Given the description of an element on the screen output the (x, y) to click on. 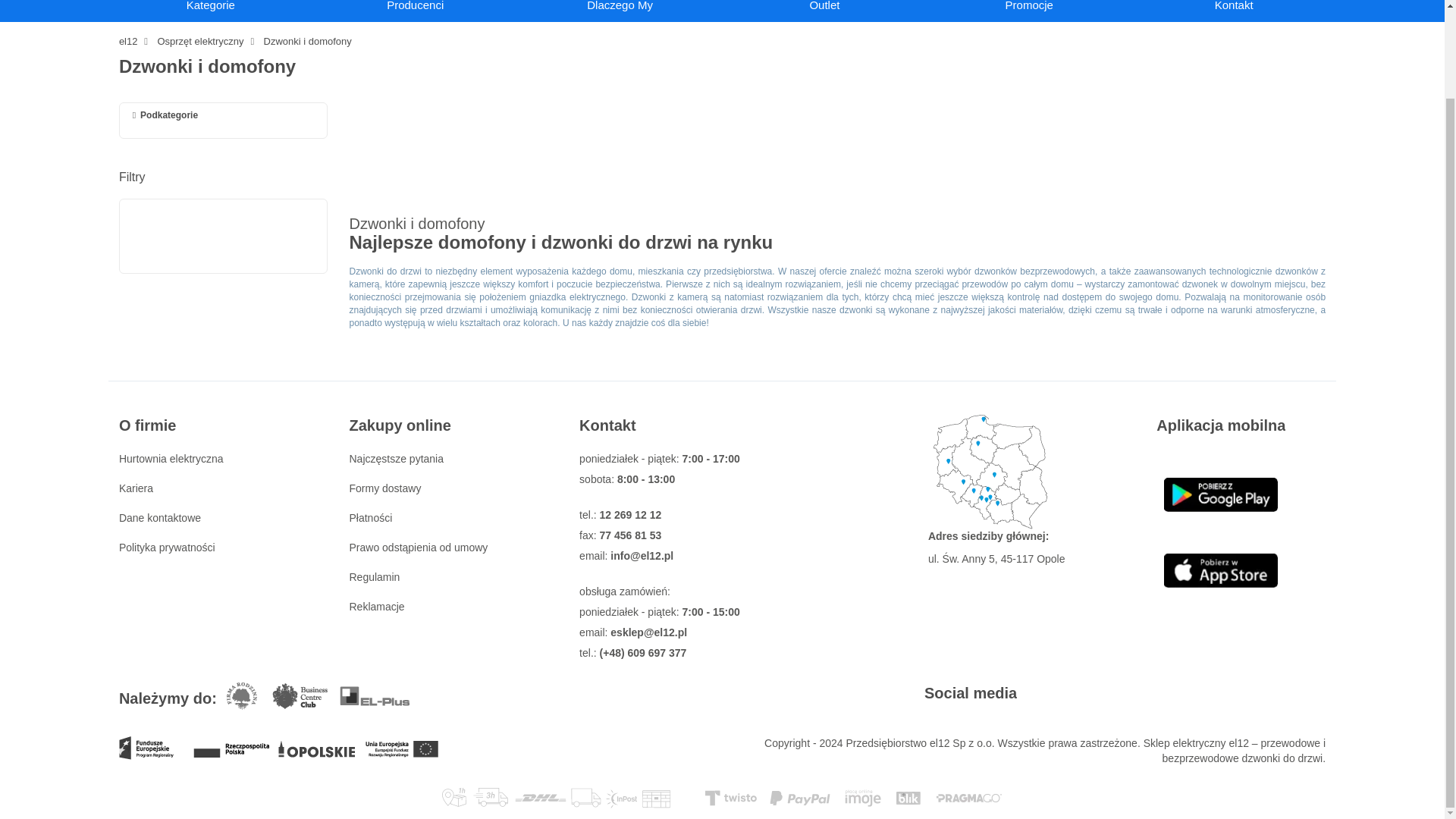
Kariera (135, 488)
Reklamacje (376, 606)
Kariera (135, 488)
Hurtownia elektryczna (171, 458)
Aplikacja mobilna el12 (1220, 570)
Koszty dostawy (384, 488)
Formy dostawy (384, 488)
Reklamacje (376, 606)
Dane kontaktowe (159, 517)
Regulamin (373, 576)
Producenci (415, 11)
Dzwonki i domofony (307, 41)
Aplikacja mobilna el12 (1220, 494)
Promocje (1028, 11)
el12 (129, 41)
